Given the description of an element on the screen output the (x, y) to click on. 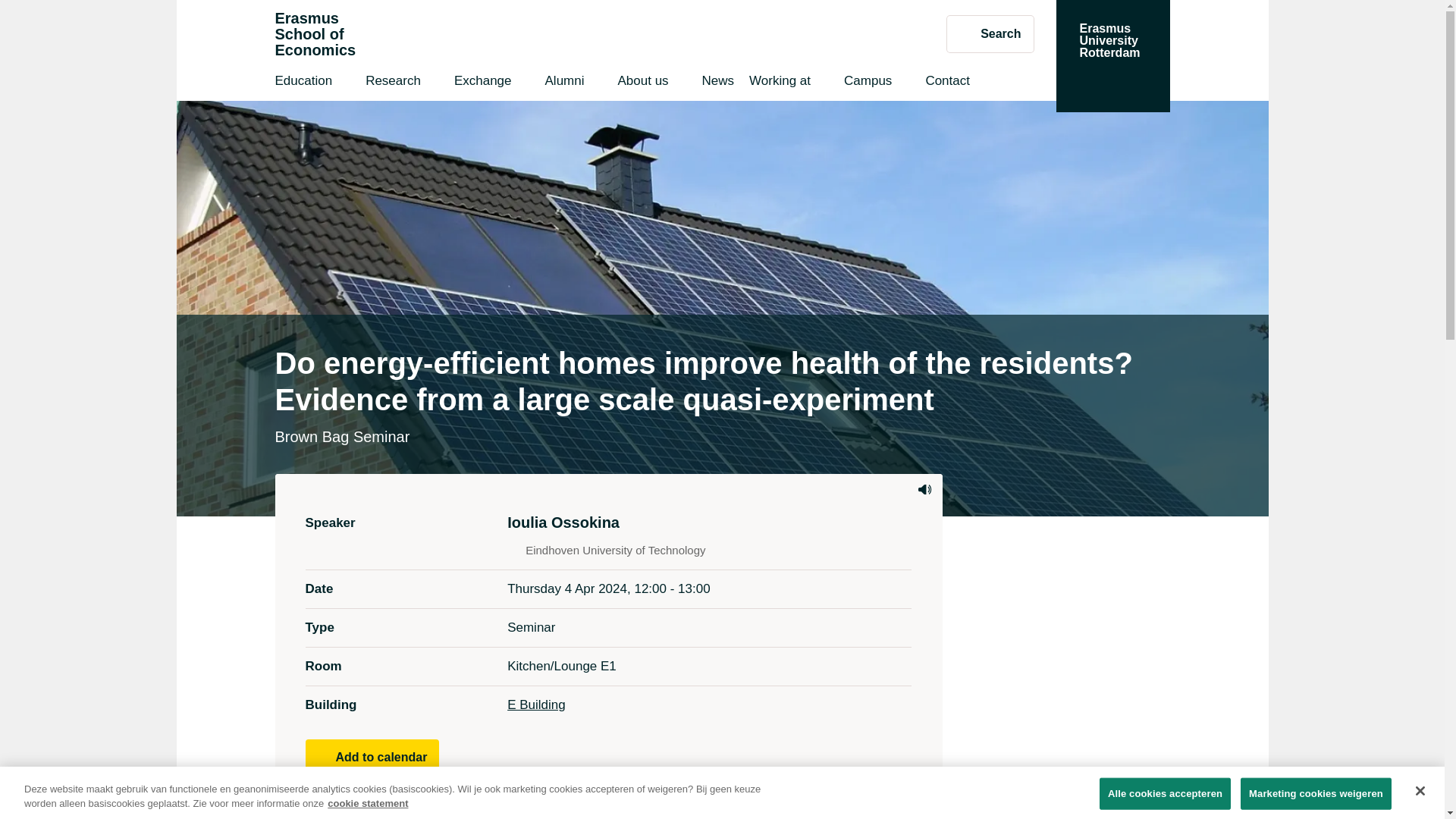
Working at (779, 82)
Campus (868, 82)
Research (392, 82)
Add to calendar (371, 757)
Alumni (315, 34)
About us (564, 82)
Search (642, 82)
Education (989, 33)
News (302, 82)
Contact (718, 82)
Listen to this page using ReadSpeaker (946, 82)
Exchange (923, 489)
E Building (1112, 56)
